Given the description of an element on the screen output the (x, y) to click on. 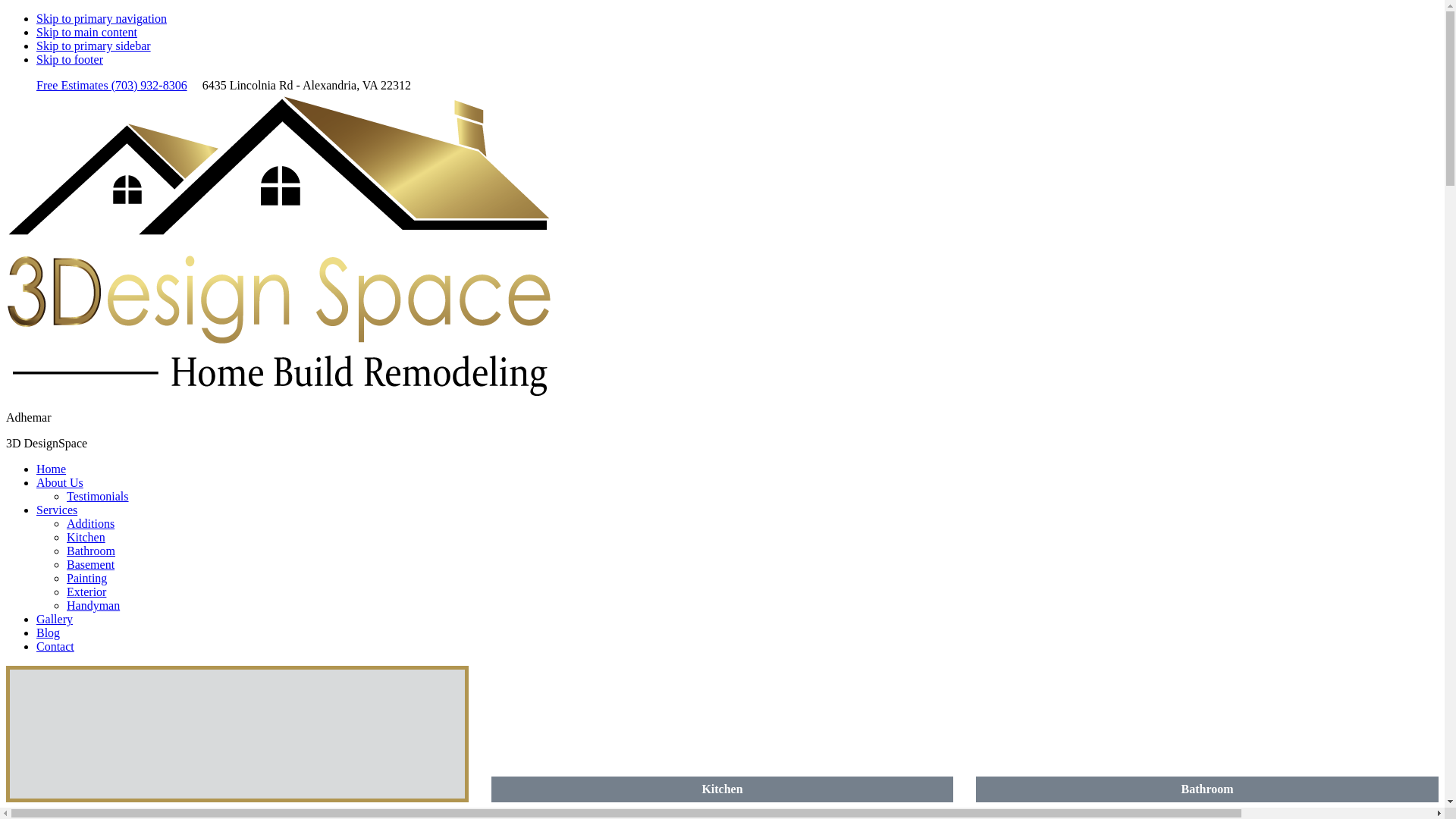
Contact Element type: text (55, 646)
Kitchen Element type: text (85, 536)
About Us Element type: text (59, 482)
Blog Element type: text (47, 632)
Gallery Element type: text (54, 618)
Free Estimates (703) 932-8306 Element type: text (111, 84)
Handyman Element type: text (92, 605)
Bathroom Element type: text (1206, 733)
Basement Element type: text (90, 564)
Skip to primary navigation Element type: text (101, 18)
Skip to primary sidebar Element type: text (93, 45)
Bathroom Element type: text (90, 550)
Services Element type: text (56, 509)
Home Element type: text (50, 468)
Skip to main content Element type: text (86, 31)
Testimonials Element type: text (97, 495)
Kitchen Element type: text (722, 733)
Skip to footer Element type: text (69, 59)
Additions Element type: text (90, 523)
Exterior Element type: text (86, 591)
Painting Element type: text (86, 577)
